Given the description of an element on the screen output the (x, y) to click on. 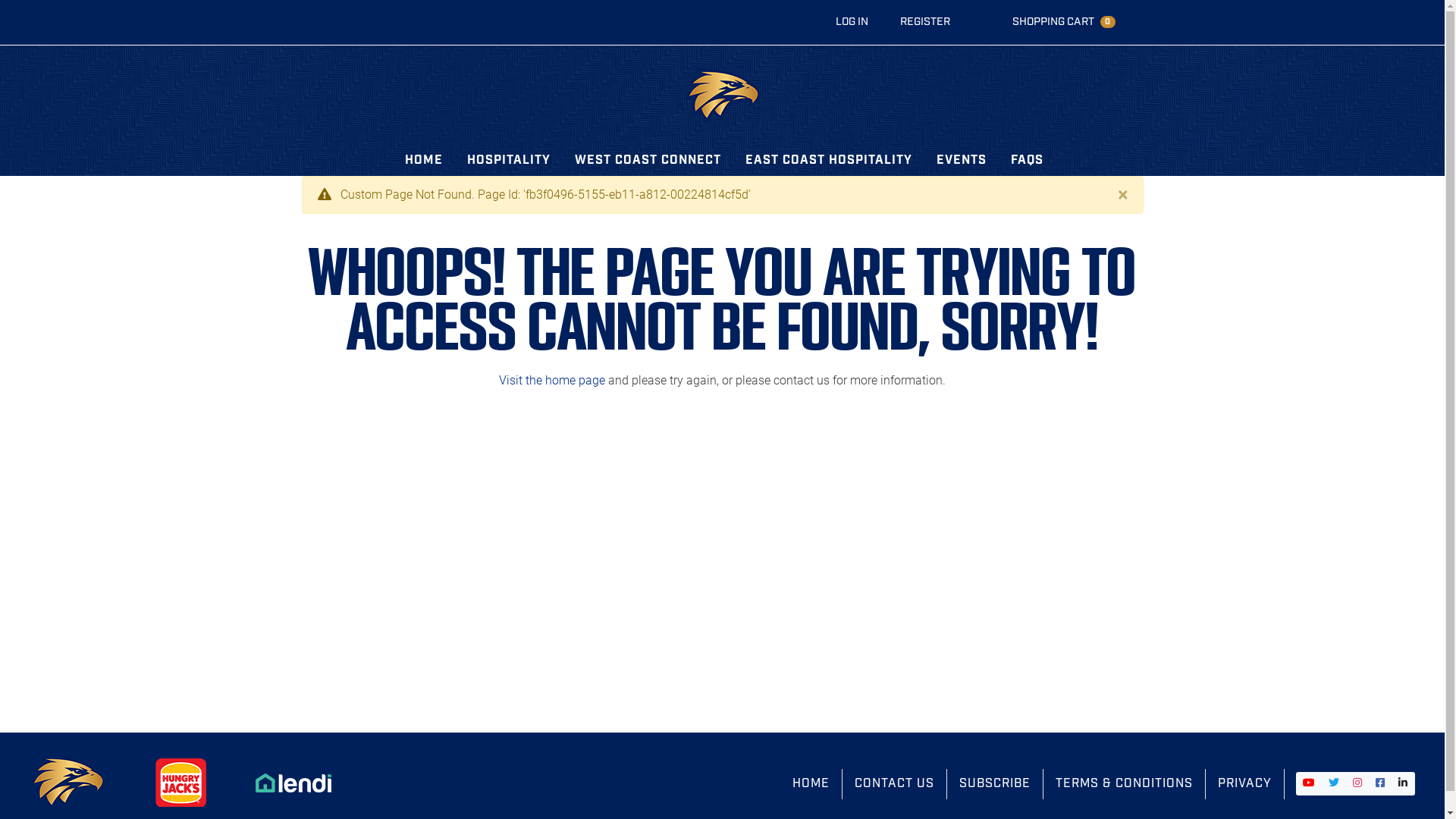
HOSPITALITY Element type: text (508, 160)
CONTACT US Element type: text (894, 783)
EVENTS Element type: text (961, 160)
EAST COAST HOSPITALITY Element type: text (828, 160)
FAQS Element type: text (1026, 160)
SHOPPING CART0 Element type: text (1063, 22)
PRIVACY Element type: text (1244, 783)
LOG IN Element type: text (851, 22)
SUBSCRIBE Element type: text (995, 783)
TERMS & CONDITIONS Element type: text (1124, 783)
HOME Element type: text (811, 783)
HOME Element type: text (423, 160)
WEST COAST CONNECT Element type: text (647, 160)
REGISTER Element type: text (925, 22)
Visit the home page Element type: text (551, 380)
